Given the description of an element on the screen output the (x, y) to click on. 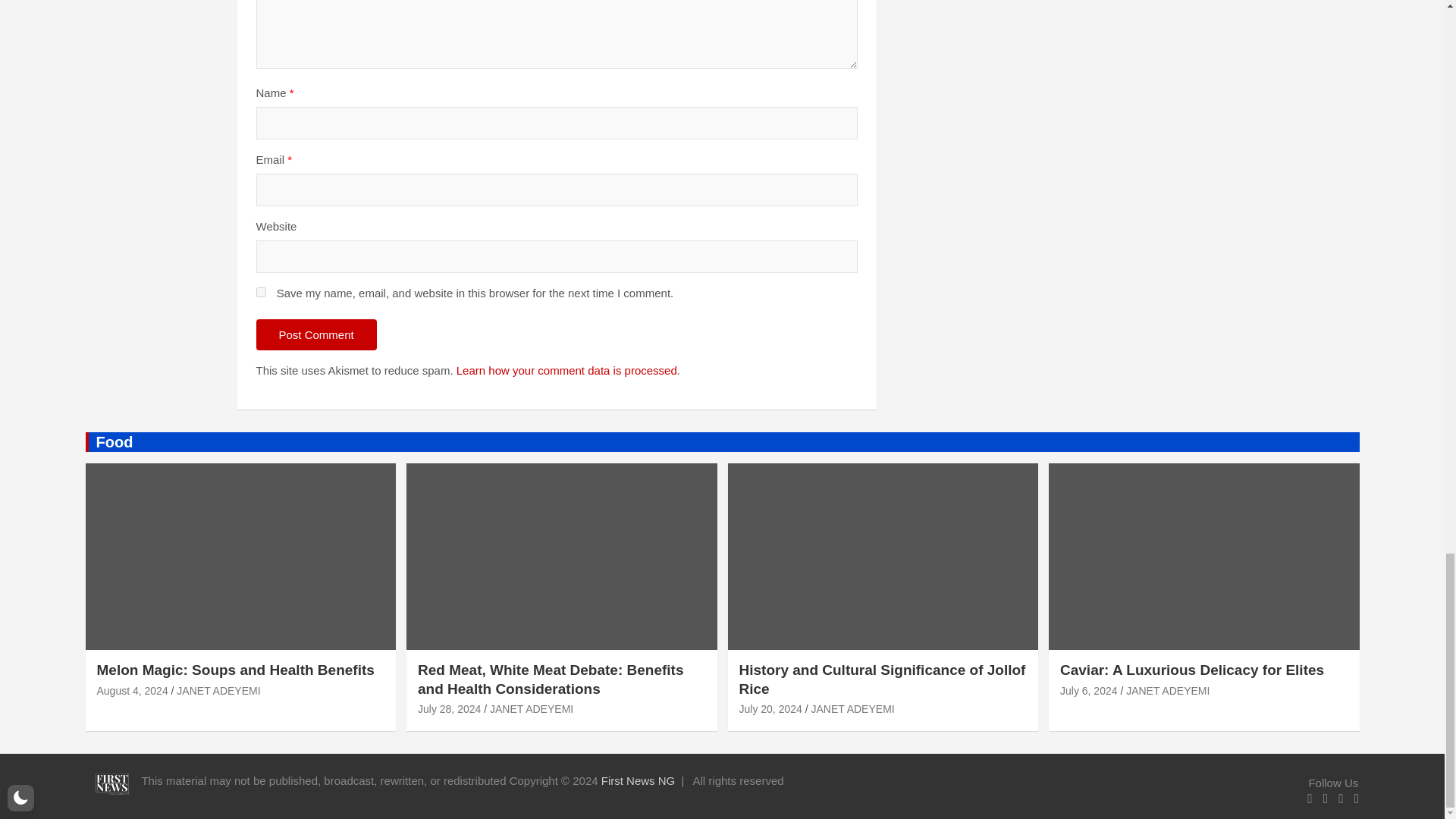
Melon Magic: Soups and Health Benefits (132, 689)
History and Cultural Significance of Jollof Rice (770, 708)
Caviar: A Luxurious Delicacy for Elites (1088, 689)
yes (261, 292)
First News NG (638, 780)
Post Comment (316, 334)
